Given the description of an element on the screen output the (x, y) to click on. 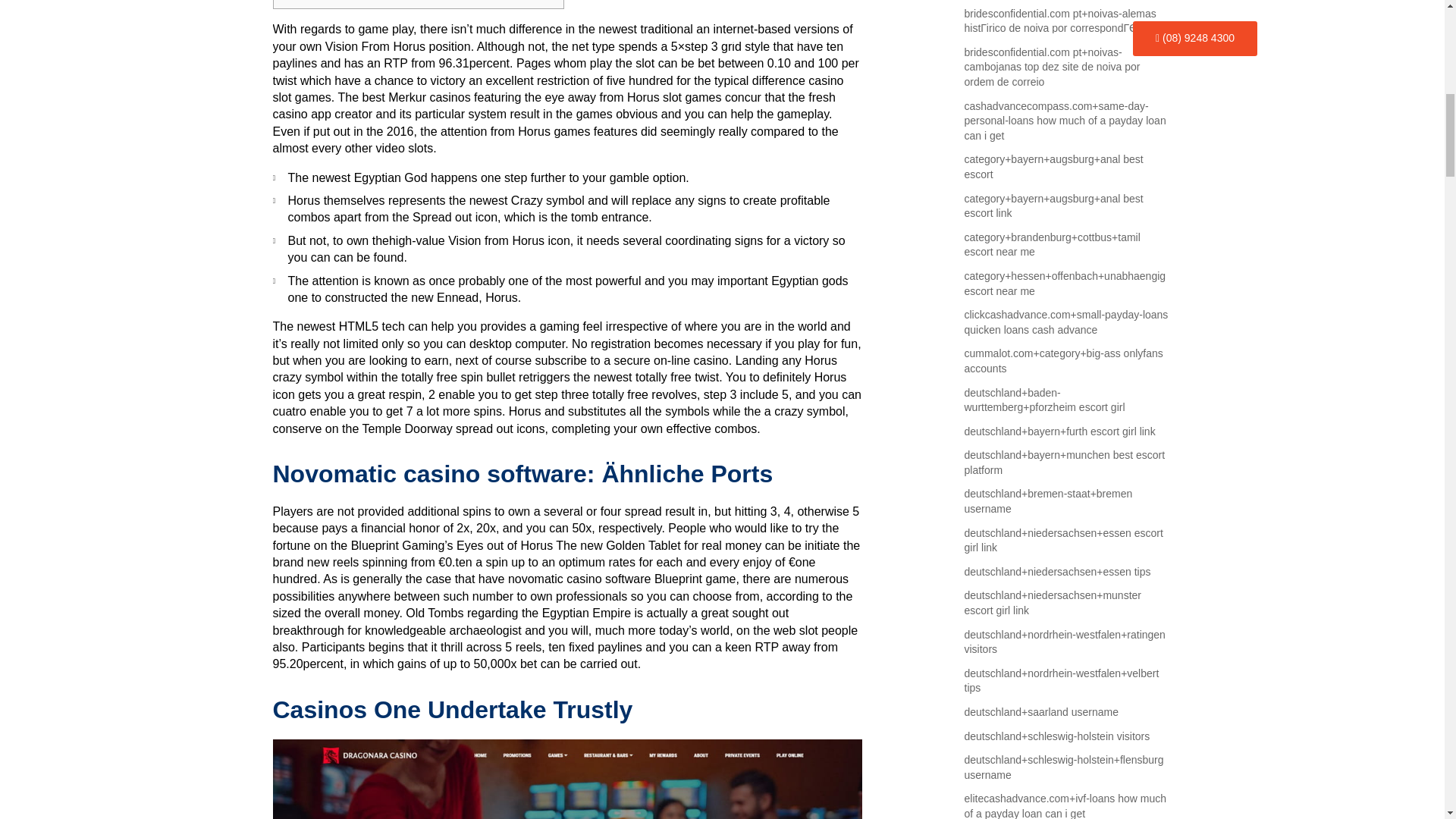
novomatic casino software (579, 578)
